Given the description of an element on the screen output the (x, y) to click on. 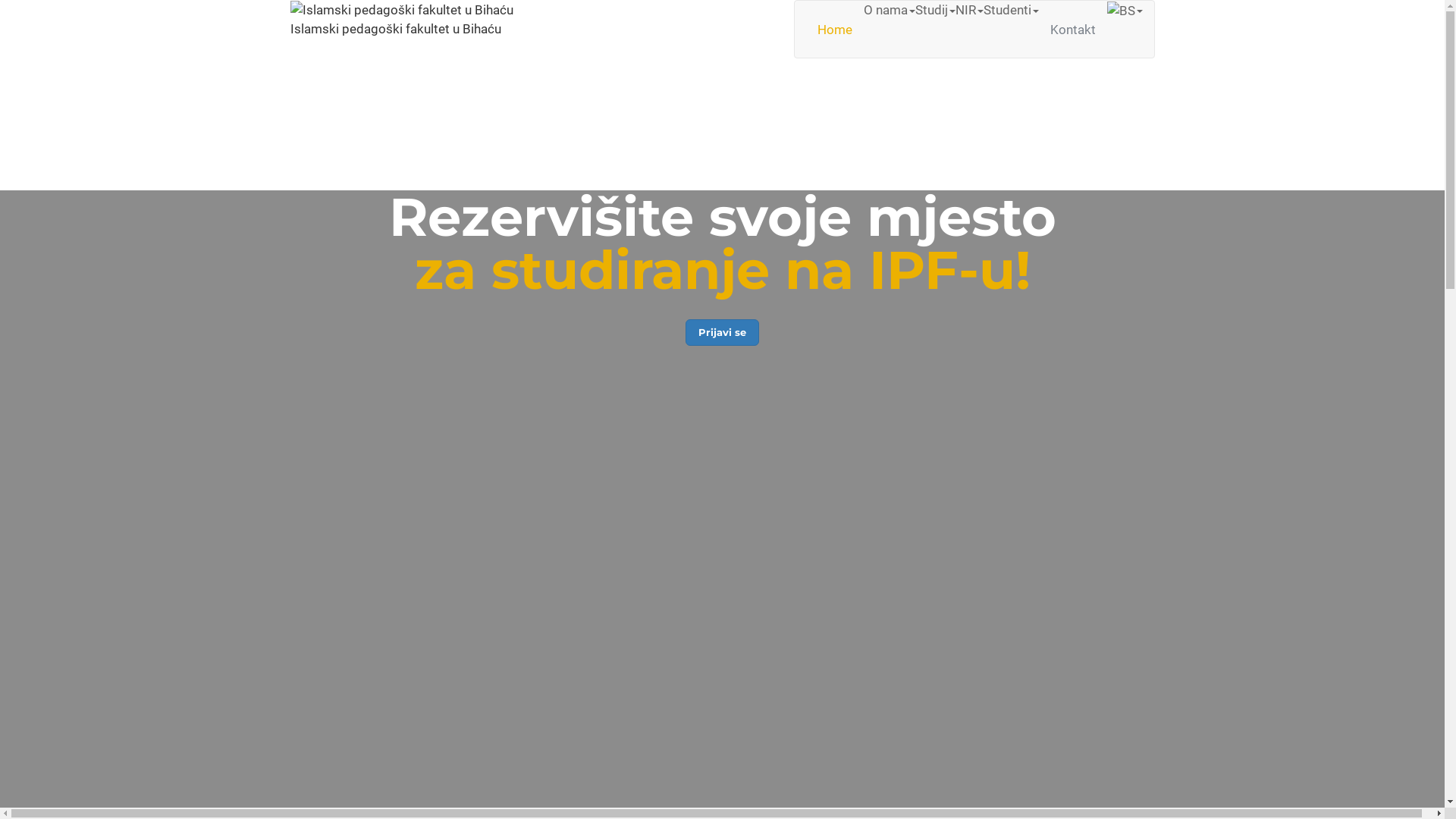
Home Element type: text (833, 28)
Kontakt Element type: text (1072, 28)
Prijavi se Element type: text (722, 332)
